Given the description of an element on the screen output the (x, y) to click on. 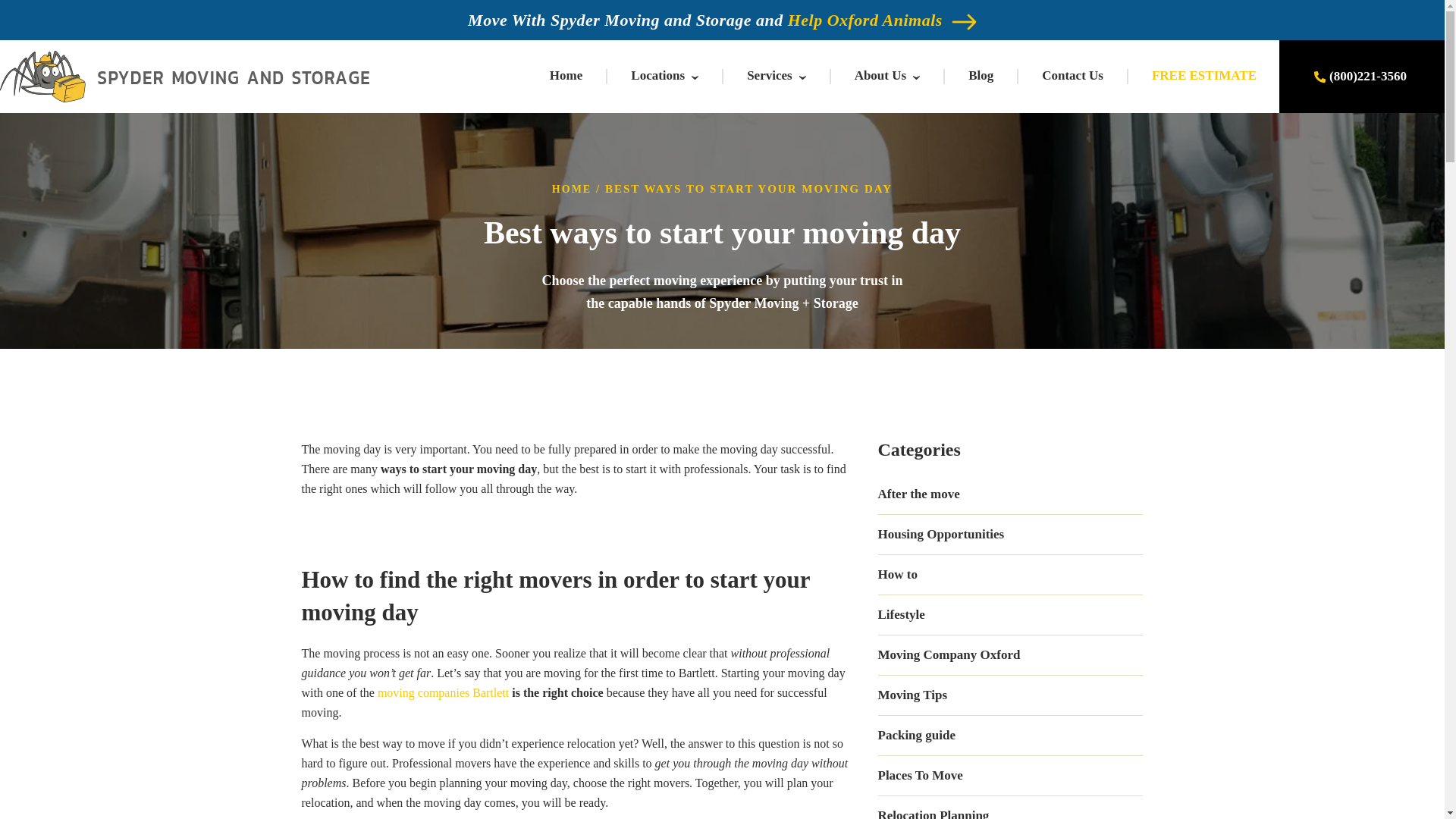
Locations (657, 75)
HOME (571, 188)
About Us (880, 75)
FREE ESTIMATE (1203, 75)
Services (769, 75)
moving companies Bartlett (442, 692)
Contact Us (1072, 75)
